Given the description of an element on the screen output the (x, y) to click on. 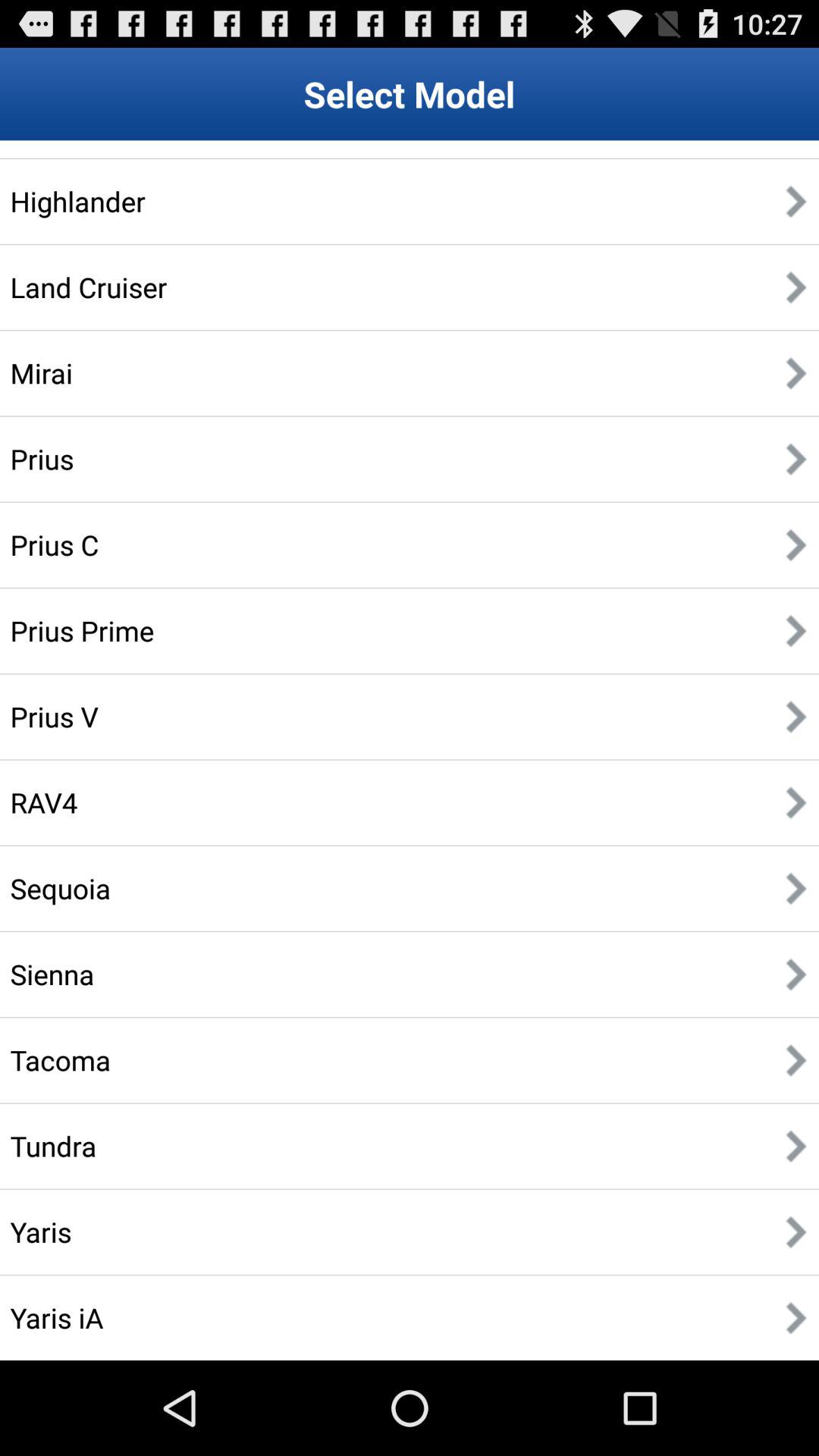
choose the app above the sequoia icon (43, 802)
